Given the description of an element on the screen output the (x, y) to click on. 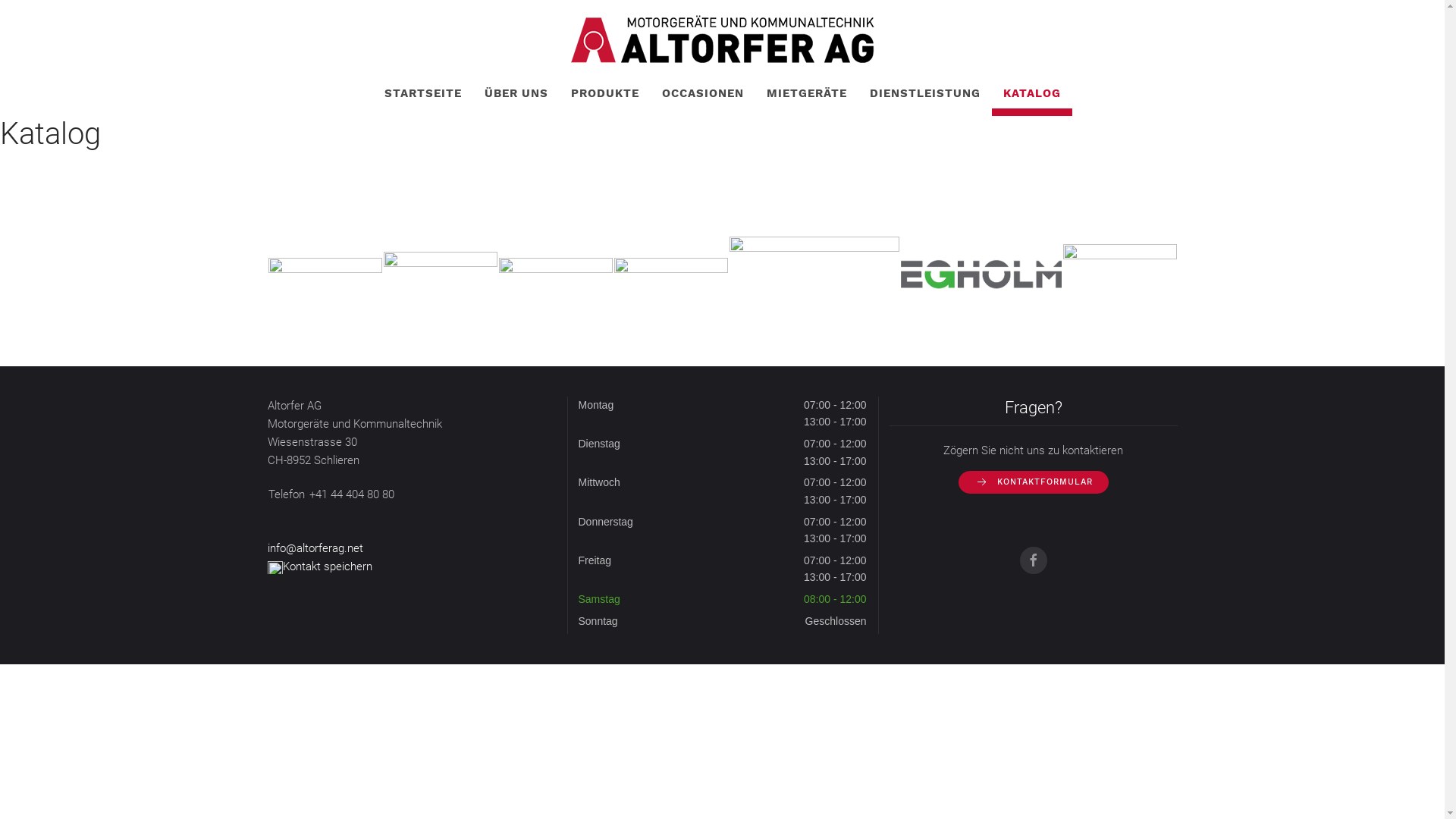
STARTSEITE Element type: text (423, 93)
KONTAKTFORMULAR Element type: text (1033, 481)
OCCASIONEN Element type: text (702, 93)
Toro Element type: hover (440, 273)
Waterkracht Element type: hover (1119, 273)
PRODUKTE Element type: text (604, 93)
Rapid Element type: hover (671, 273)
Egholm Element type: hover (980, 273)
KATALOG Element type: text (1031, 93)
Honda Element type: hover (325, 273)
Stihl Element type: hover (555, 273)
info@altorferag.net Element type: text (314, 548)
Iseki Element type: hover (814, 273)
DIENSTLEISTUNG Element type: text (924, 93)
Kontakt speichern Element type: text (318, 566)
